Given the description of an element on the screen output the (x, y) to click on. 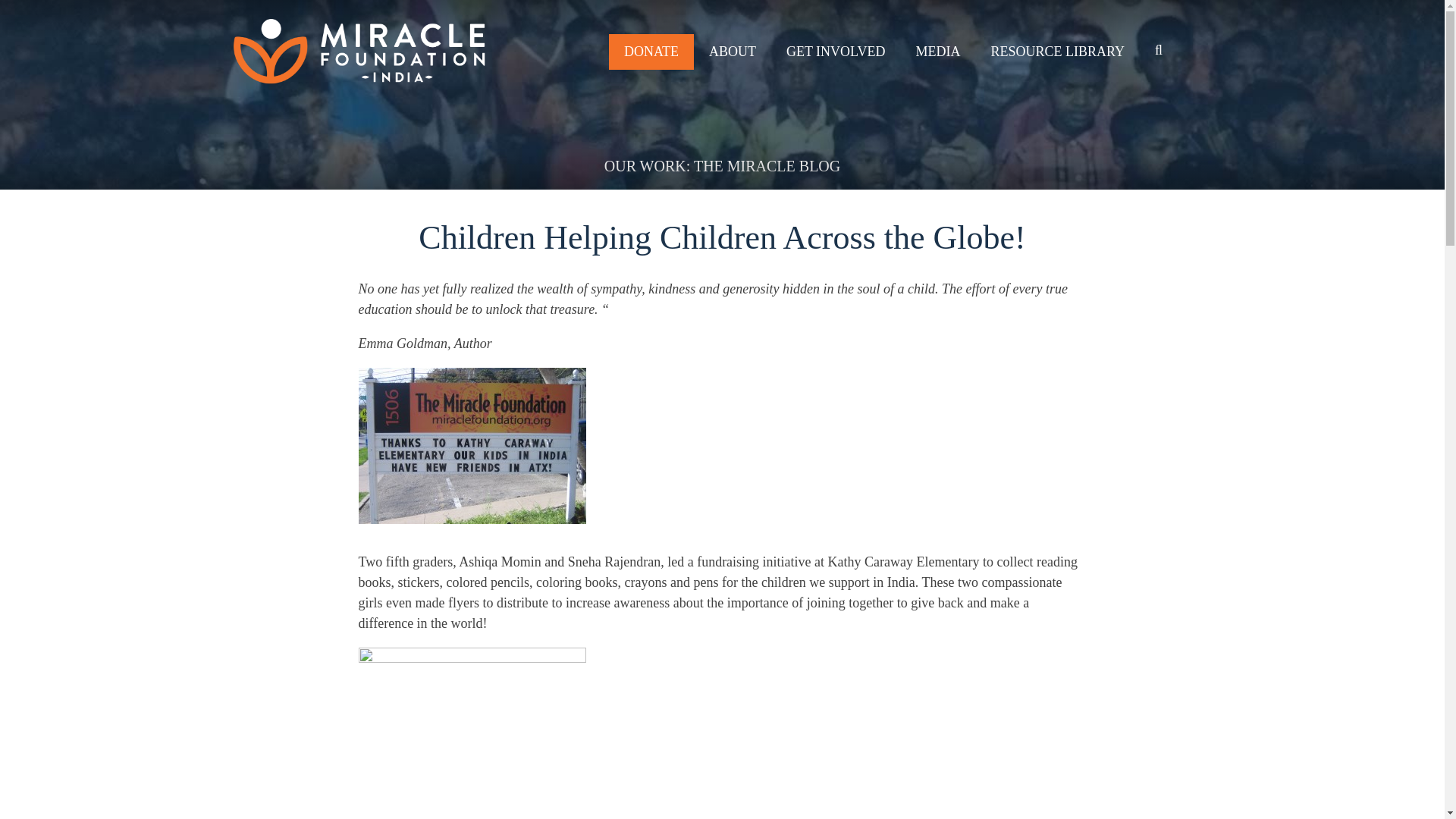
Miracle Foundation India (302, 111)
Search (32, 13)
DONATE (651, 51)
ABOUT (732, 51)
MEDIA (937, 51)
RESOURCE LIBRARY (1057, 51)
GET INVOLVED (836, 51)
